Given the description of an element on the screen output the (x, y) to click on. 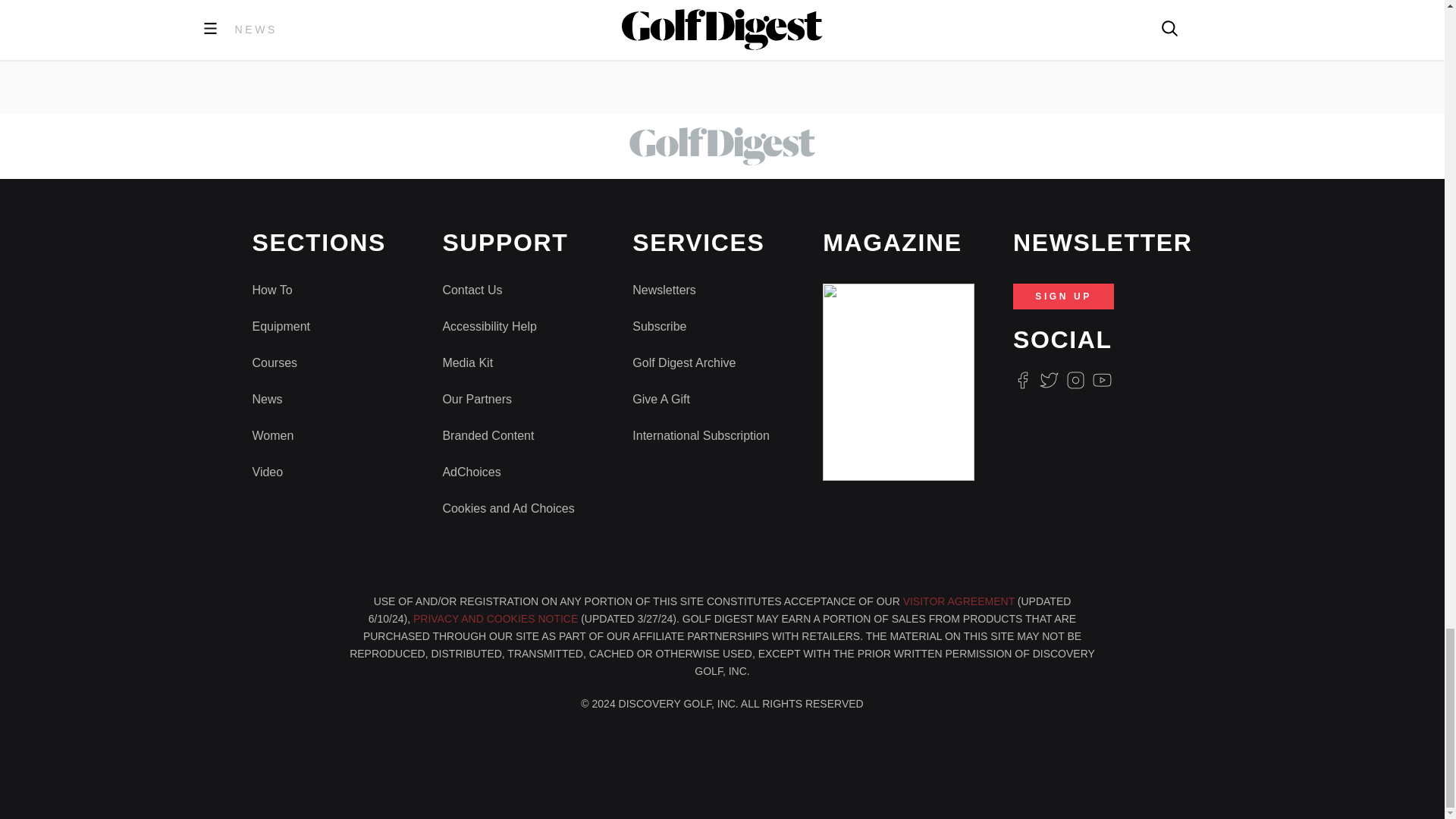
Instagram Logo (1074, 380)
Twitter Logo (1048, 380)
Facebook Logo (1022, 380)
Youtube Icon (1102, 380)
